Given the description of an element on the screen output the (x, y) to click on. 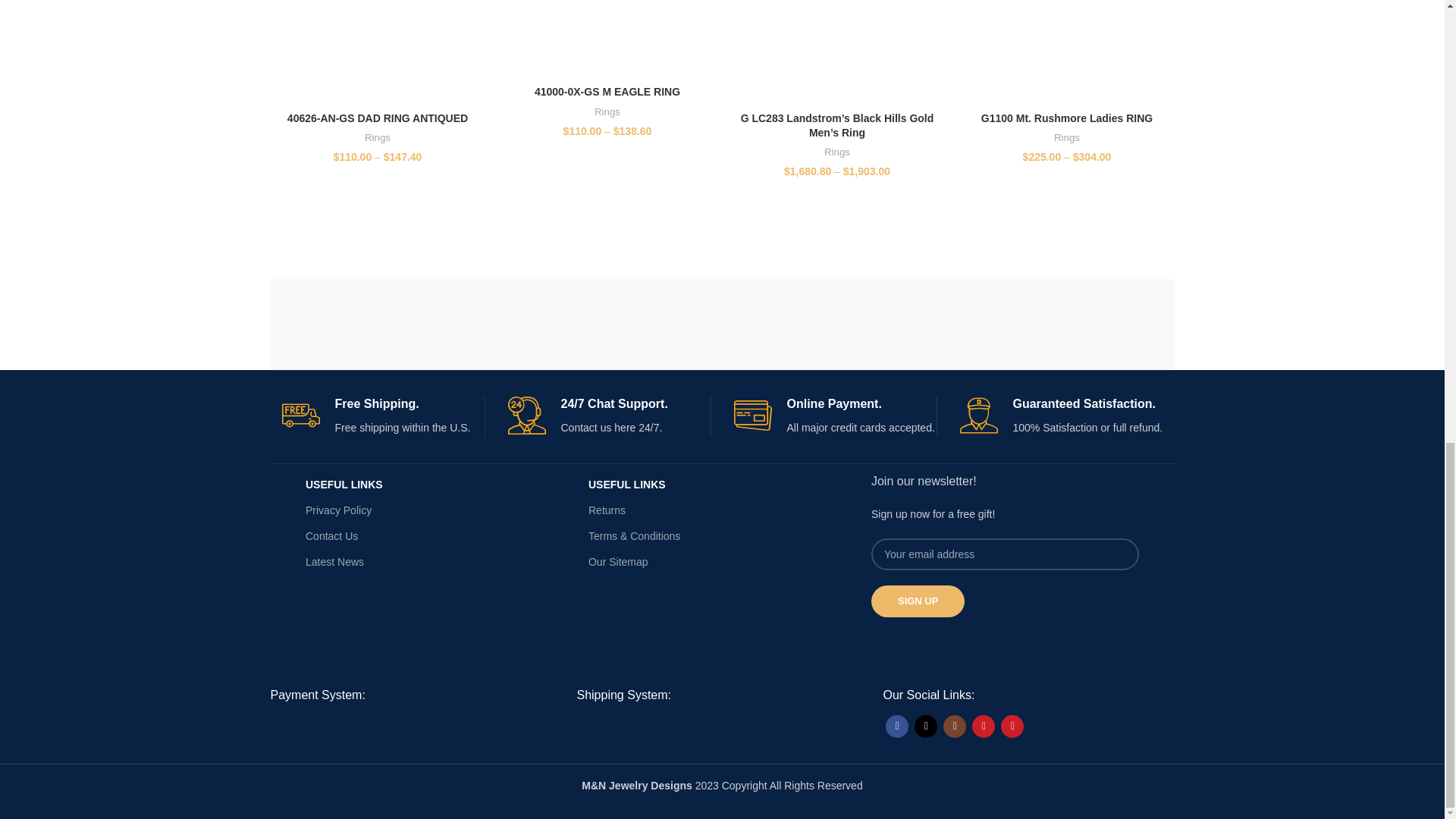
Mt. Rushmore Black Hills Gold (611, 324)
Trj Concepts (388, 324)
Landstrom's (1055, 324)
Sign up (916, 601)
